Given the description of an element on the screen output the (x, y) to click on. 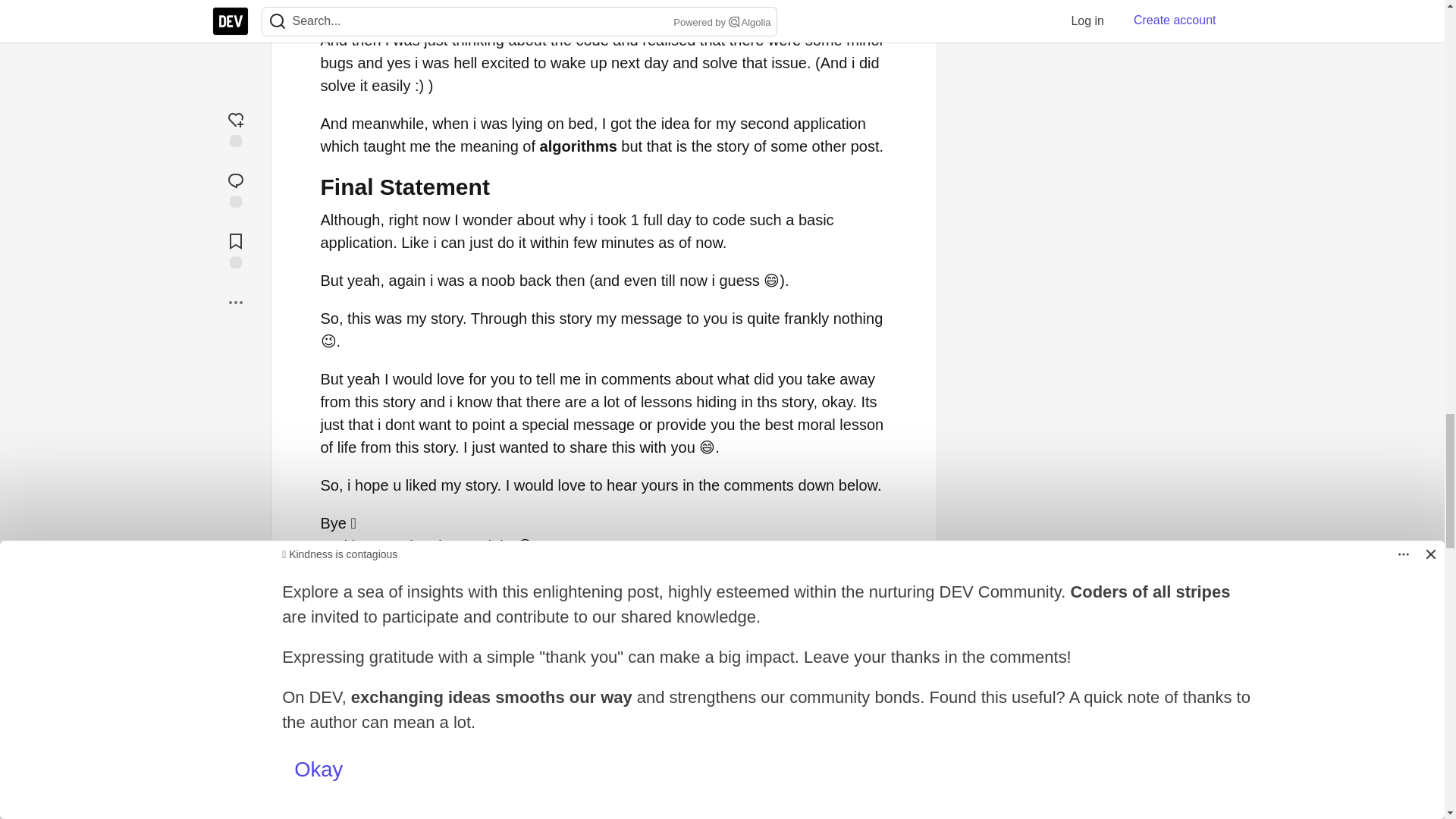
Subscribe (848, 666)
